Given the description of an element on the screen output the (x, y) to click on. 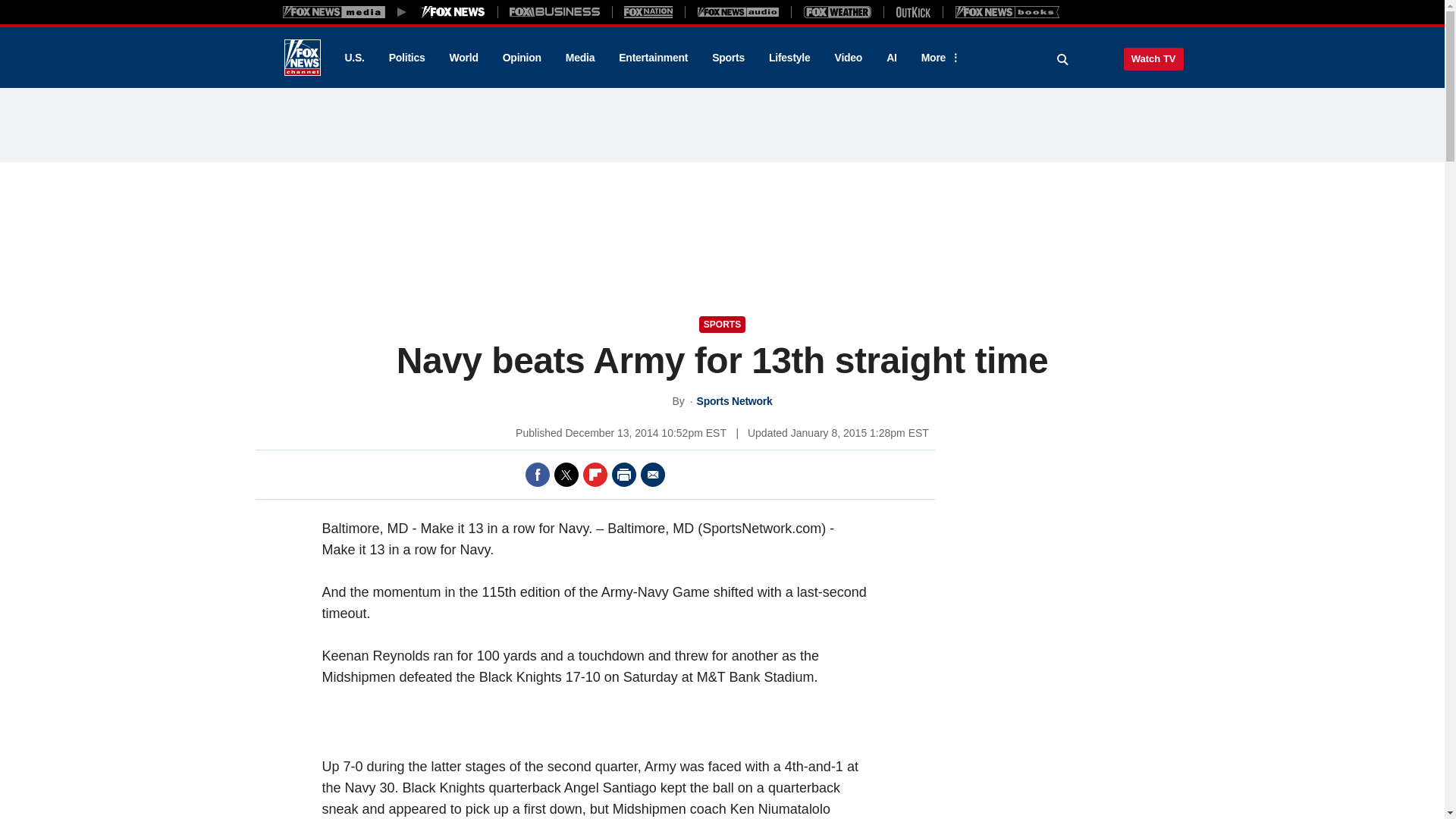
Media (580, 57)
AI (891, 57)
Lifestyle (789, 57)
U.S. (353, 57)
Fox News (301, 57)
Fox Weather (836, 11)
Fox Business (554, 11)
Fox Nation (648, 11)
Opinion (521, 57)
World (464, 57)
